Given the description of an element on the screen output the (x, y) to click on. 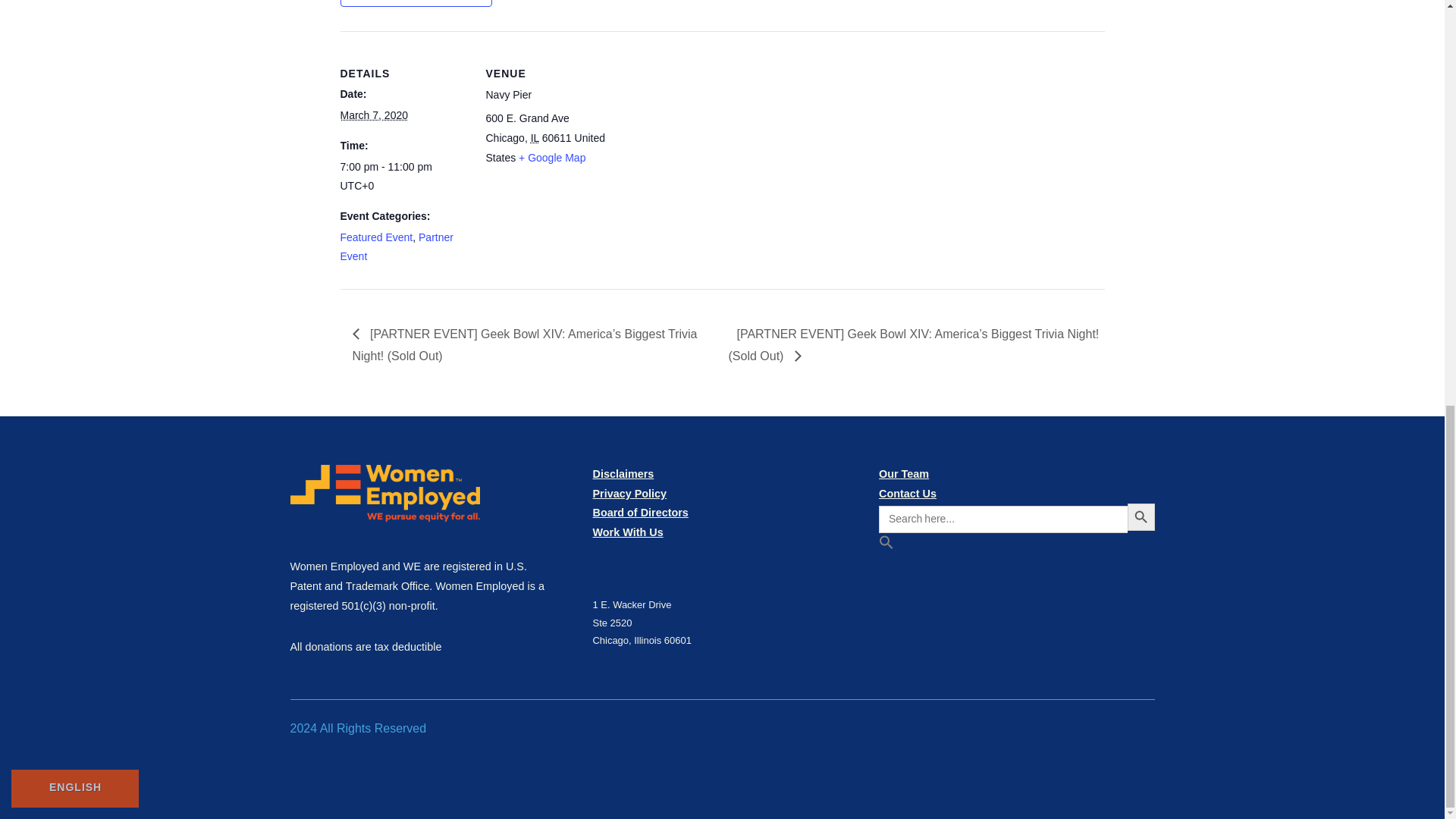
2020-03-07 (403, 176)
Google maps iframe displaying the address to Navy Pier (710, 136)
2020-03-07 (373, 114)
Click to view a Google Map (551, 157)
